Given the description of an element on the screen output the (x, y) to click on. 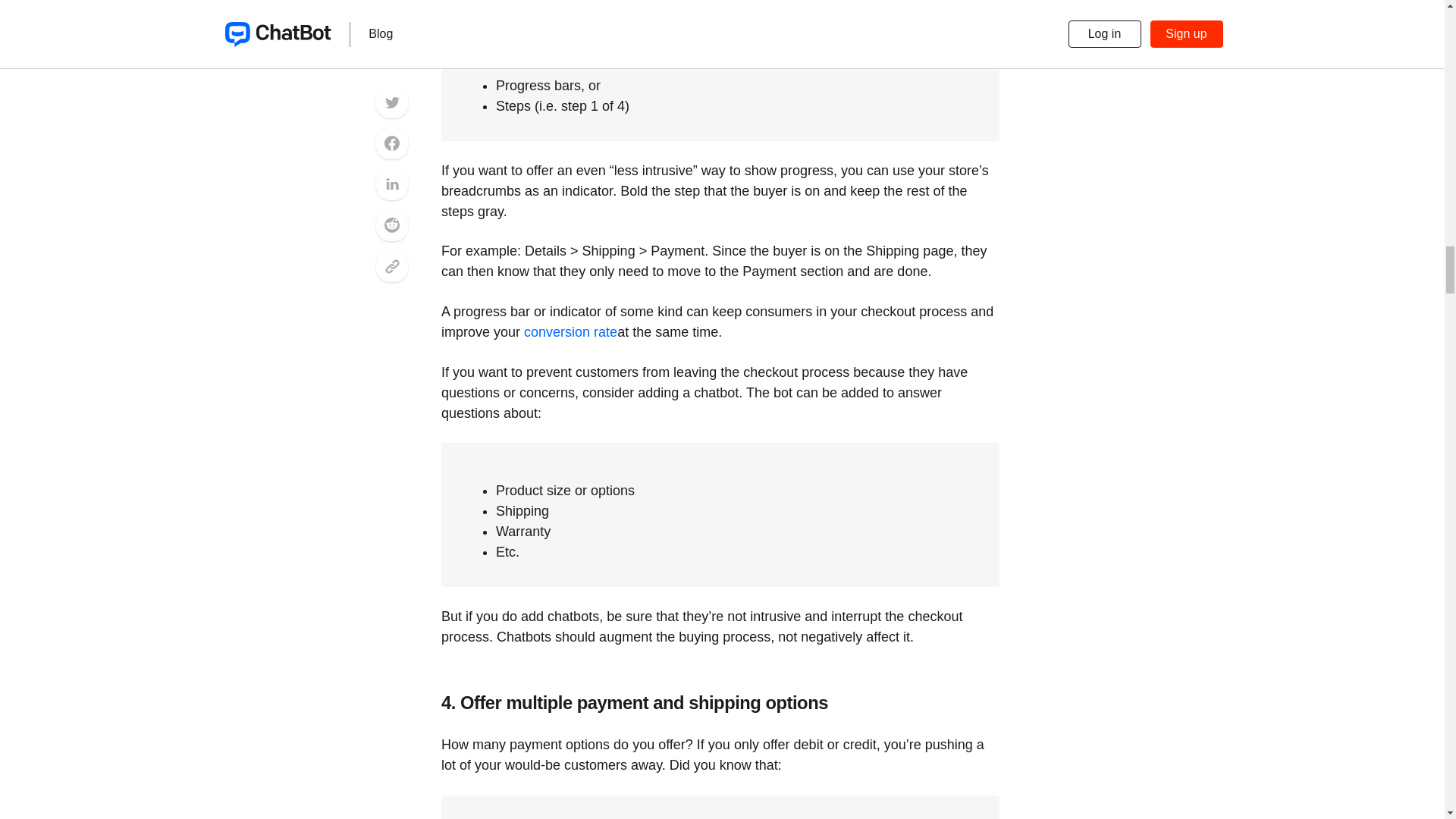
conversion rate (570, 331)
